Given the description of an element on the screen output the (x, y) to click on. 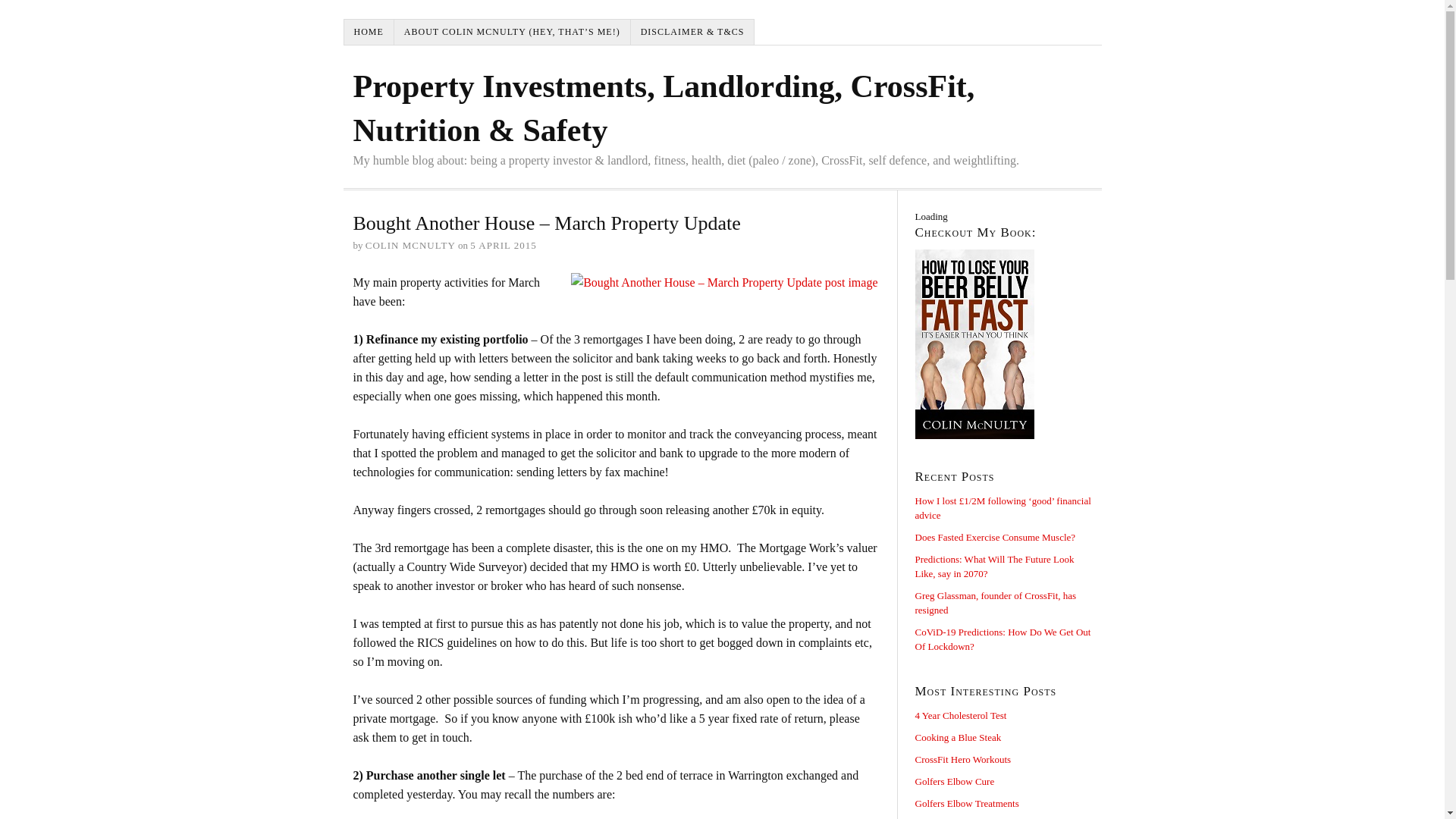
Colin McNulty's Book - How to Lose Your Pot Belly Fat Fast (1002, 343)
Does Fasted Exercise Consume Muscle? (994, 536)
Golfers Elbow Cure (954, 781)
Cooking a Blue Steak (957, 737)
HOME (368, 31)
CrossFit Hero Workouts (962, 758)
Predictions: What Will The Future Look Like, say in 2070? (994, 566)
Golfers Elbow Treatments (965, 803)
2015-04-05 (502, 244)
4 Year Cholesterol Test (960, 715)
CoViD-19 Predictions: How Do We Get Out Of Lockdown? (1002, 638)
3 years research on Golfers Elbow Treatments and Exercises (965, 803)
Greg Glassman, founder of CrossFit, has resigned (994, 602)
